Given the description of an element on the screen output the (x, y) to click on. 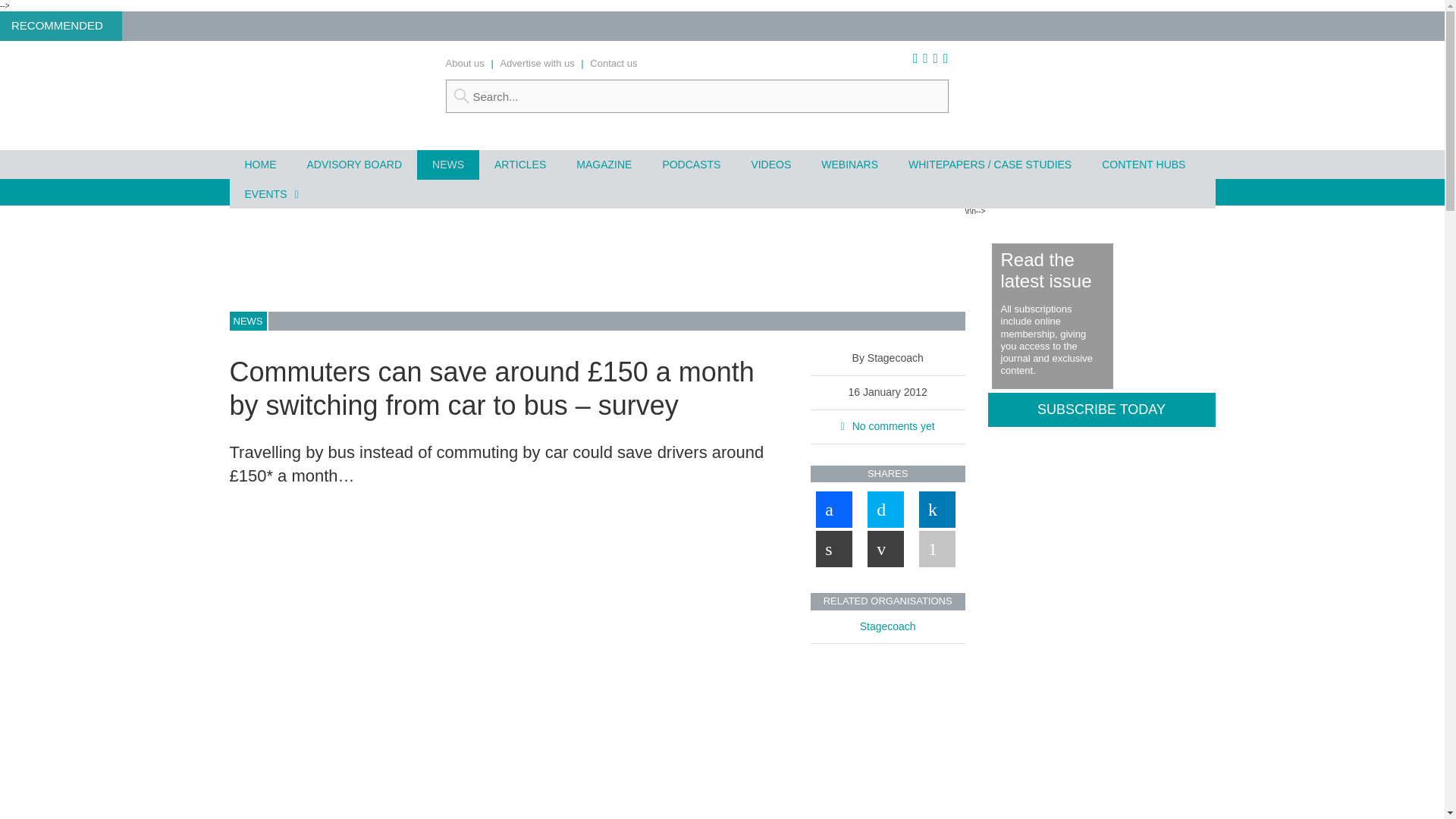
NEWS (447, 164)
Search (697, 96)
VIDEOS (770, 164)
MAGAZINE (603, 164)
Contact us (613, 62)
ADVISORY BOARD (353, 164)
Advertise with us (536, 62)
HOME (259, 164)
About us (464, 62)
WEBINARS (849, 164)
CONTENT HUBS (1142, 164)
ARTICLES (519, 164)
PODCASTS (690, 164)
